Given the description of an element on the screen output the (x, y) to click on. 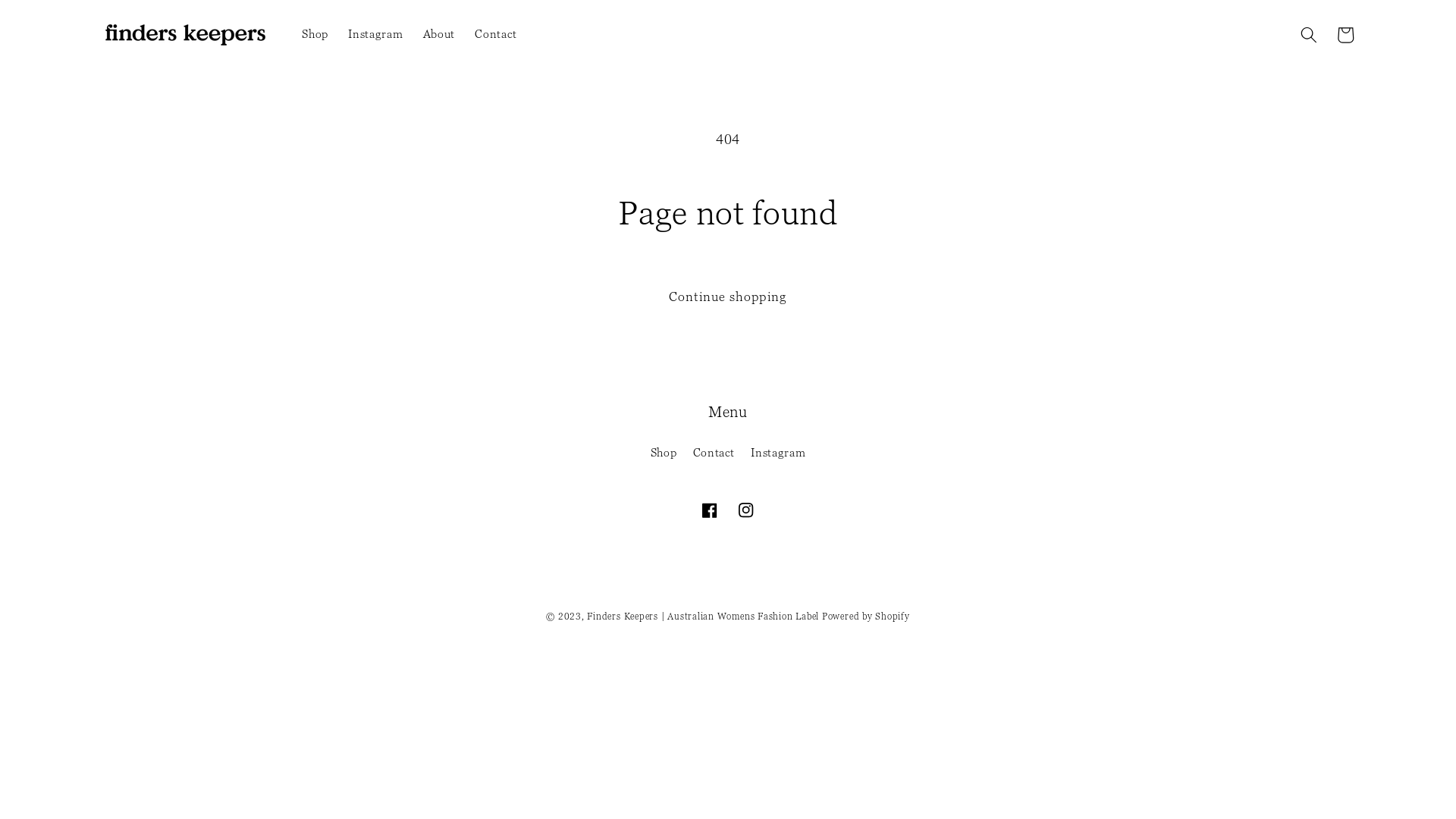
Instagram Element type: text (375, 34)
Continue shopping Element type: text (727, 296)
Shop Element type: text (663, 454)
Shop Element type: text (314, 34)
Contact Element type: text (714, 452)
Instagram Element type: text (777, 452)
Facebook Element type: text (709, 510)
Finders Keepers | Australian Womens Fashion Label Element type: text (702, 615)
About Element type: text (439, 34)
Contact Element type: text (495, 34)
Cart Element type: text (1345, 34)
Powered by Shopify Element type: text (866, 615)
Instagram Element type: text (746, 510)
